Given the description of an element on the screen output the (x, y) to click on. 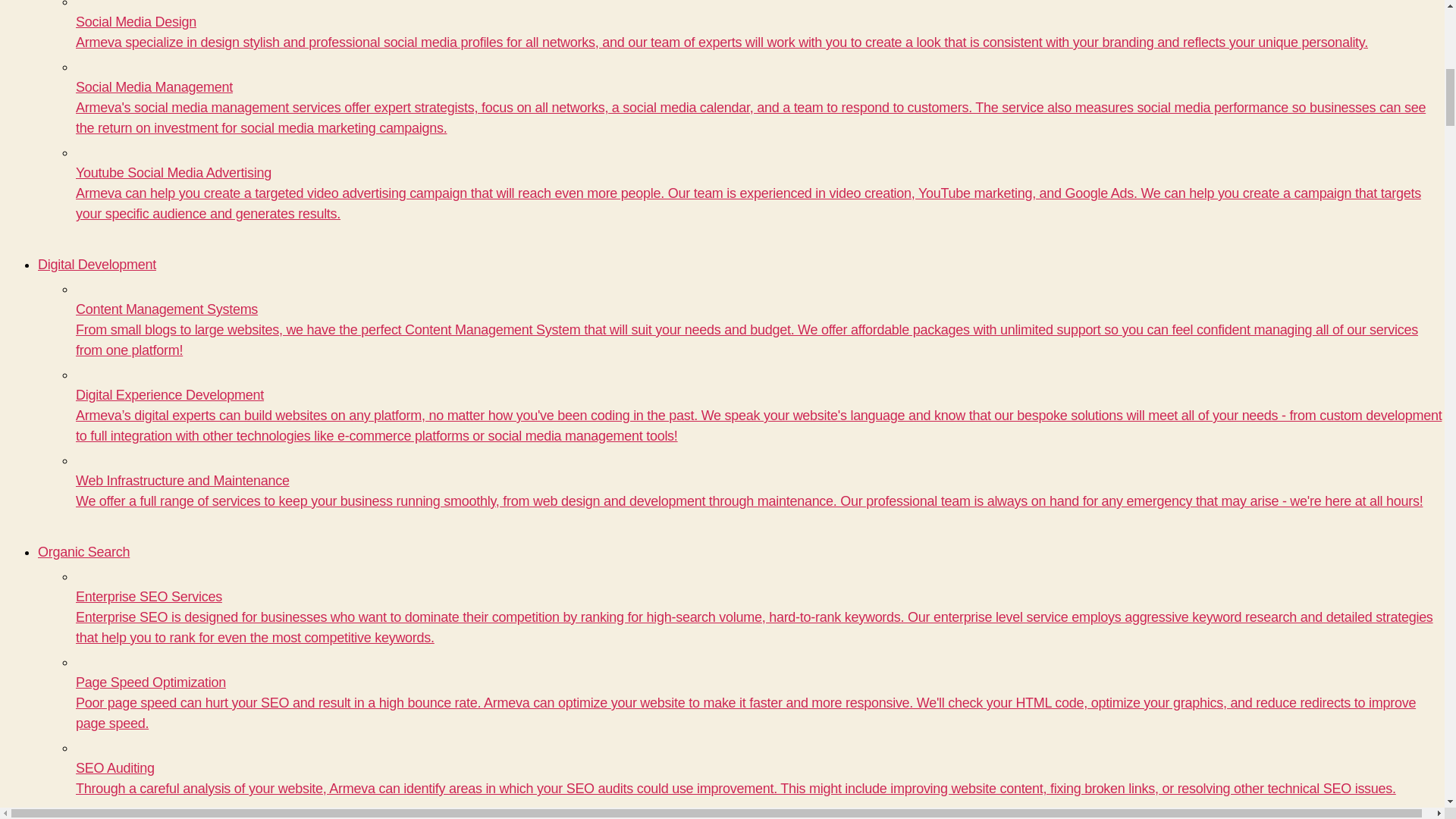
Digital Development (96, 264)
Organic Search (83, 551)
